Given the description of an element on the screen output the (x, y) to click on. 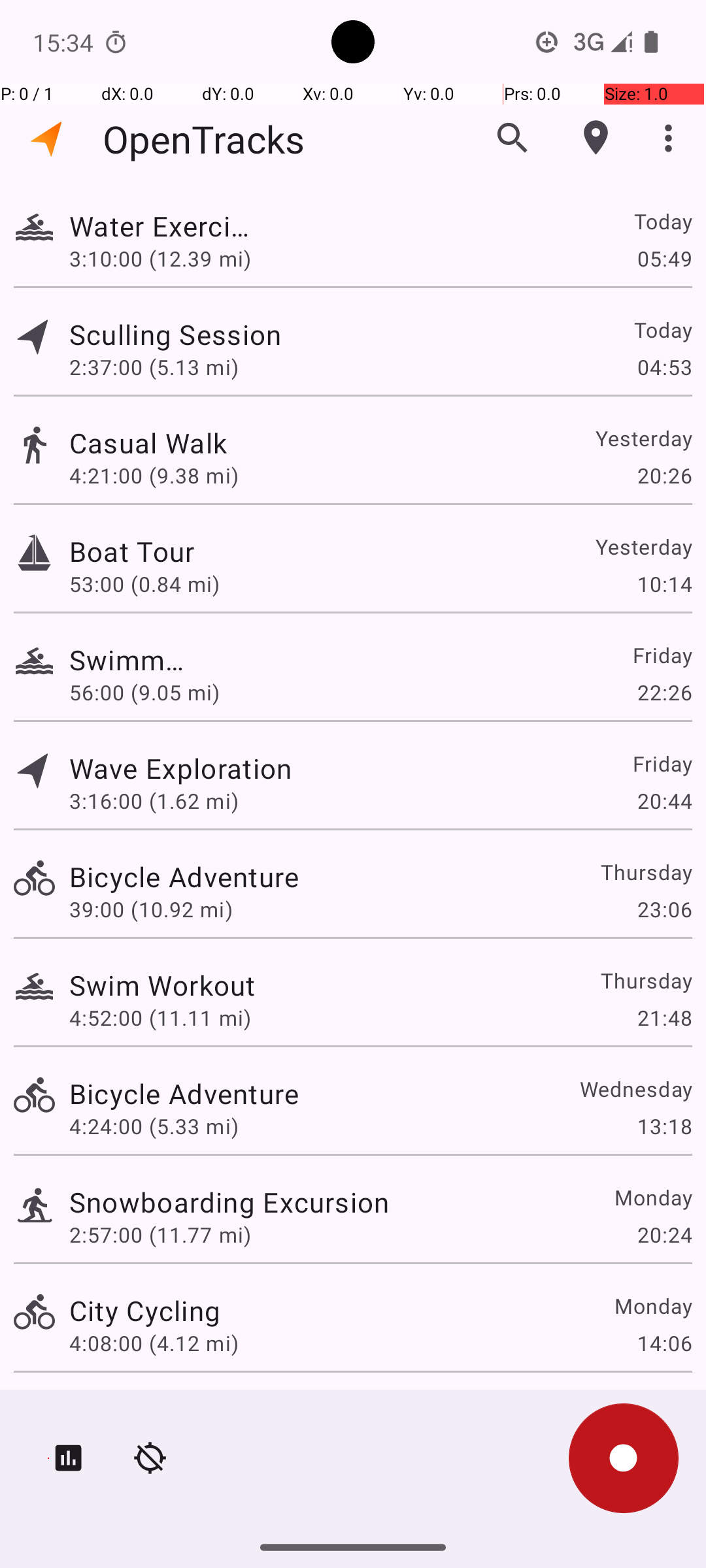
3:10:00 (12.39 mi) Element type: android.widget.TextView (159, 258)
05:49 Element type: android.widget.TextView (664, 258)
Sculling Session Element type: android.widget.TextView (183, 333)
2:37:00 (5.13 mi) Element type: android.widget.TextView (153, 366)
04:53 Element type: android.widget.TextView (664, 366)
Casual Walk Element type: android.widget.TextView (229, 442)
4:21:00 (9.38 mi) Element type: android.widget.TextView (159, 475)
20:26 Element type: android.widget.TextView (664, 475)
53:00 (0.84 mi) Element type: android.widget.TextView (153, 583)
10:14 Element type: android.widget.TextView (664, 583)
Swimming Excursion Element type: android.widget.TextView (126, 659)
56:00 (9.05 mi) Element type: android.widget.TextView (144, 692)
22:26 Element type: android.widget.TextView (664, 692)
Wave Exploration Element type: android.widget.TextView (180, 767)
3:16:00 (1.62 mi) Element type: android.widget.TextView (153, 800)
20:44 Element type: android.widget.TextView (664, 800)
Bicycle Adventure Element type: android.widget.TextView (183, 876)
39:00 (10.92 mi) Element type: android.widget.TextView (150, 909)
23:06 Element type: android.widget.TextView (664, 909)
Swim Workout Element type: android.widget.TextView (162, 984)
4:52:00 (11.11 mi) Element type: android.widget.TextView (159, 1017)
21:48 Element type: android.widget.TextView (664, 1017)
4:24:00 (5.33 mi) Element type: android.widget.TextView (153, 1125)
13:18 Element type: android.widget.TextView (664, 1125)
Snowboarding Excursion Element type: android.widget.TextView (229, 1201)
2:57:00 (11.77 mi) Element type: android.widget.TextView (159, 1234)
20:24 Element type: android.widget.TextView (664, 1234)
City Cycling Element type: android.widget.TextView (144, 1309)
4:08:00 (4.12 mi) Element type: android.widget.TextView (153, 1342)
14:06 Element type: android.widget.TextView (664, 1342)
Slow day Element type: android.widget.TextView (126, 1408)
